Given the description of an element on the screen output the (x, y) to click on. 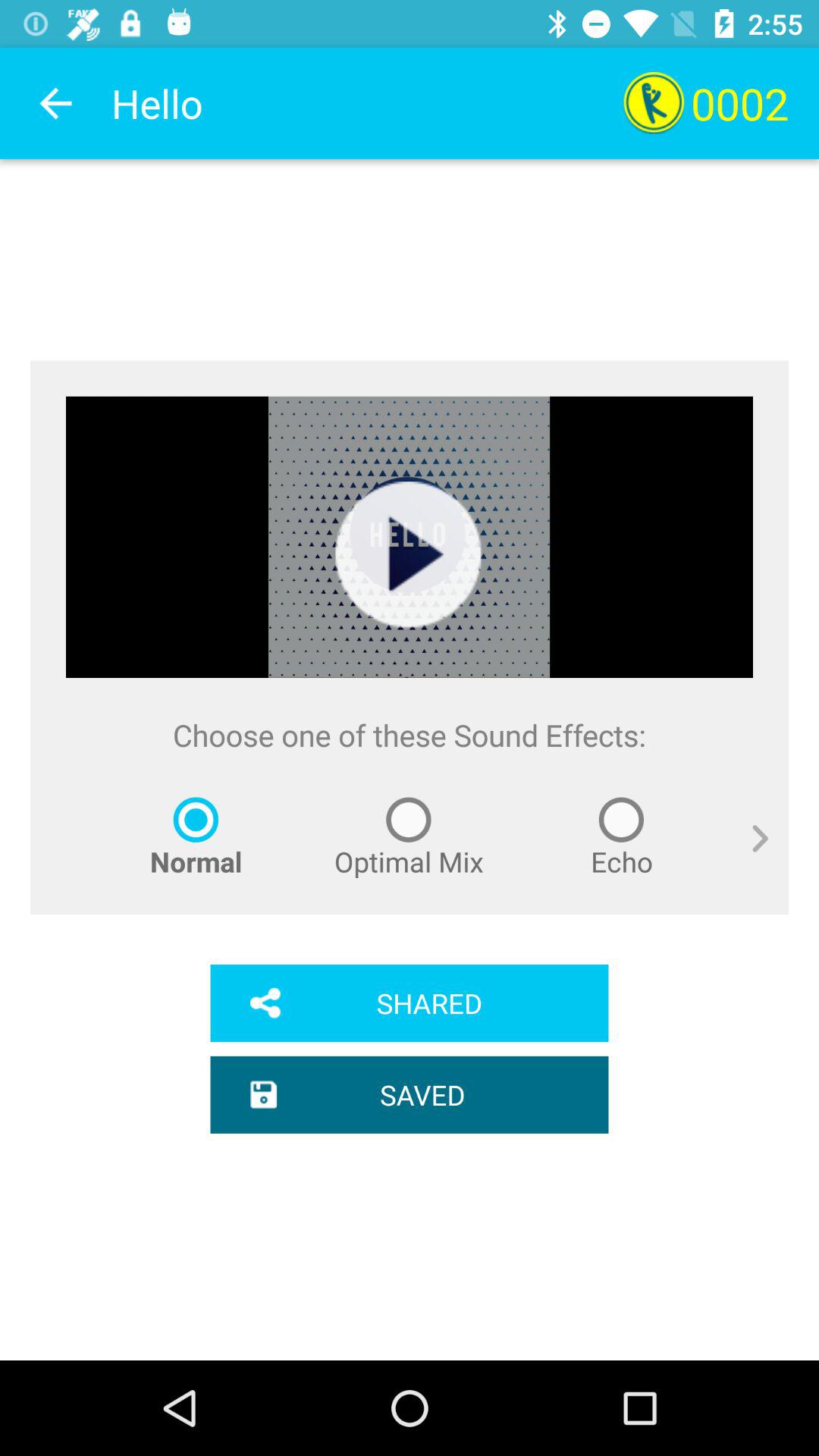
flip until shared icon (409, 1002)
